Given the description of an element on the screen output the (x, y) to click on. 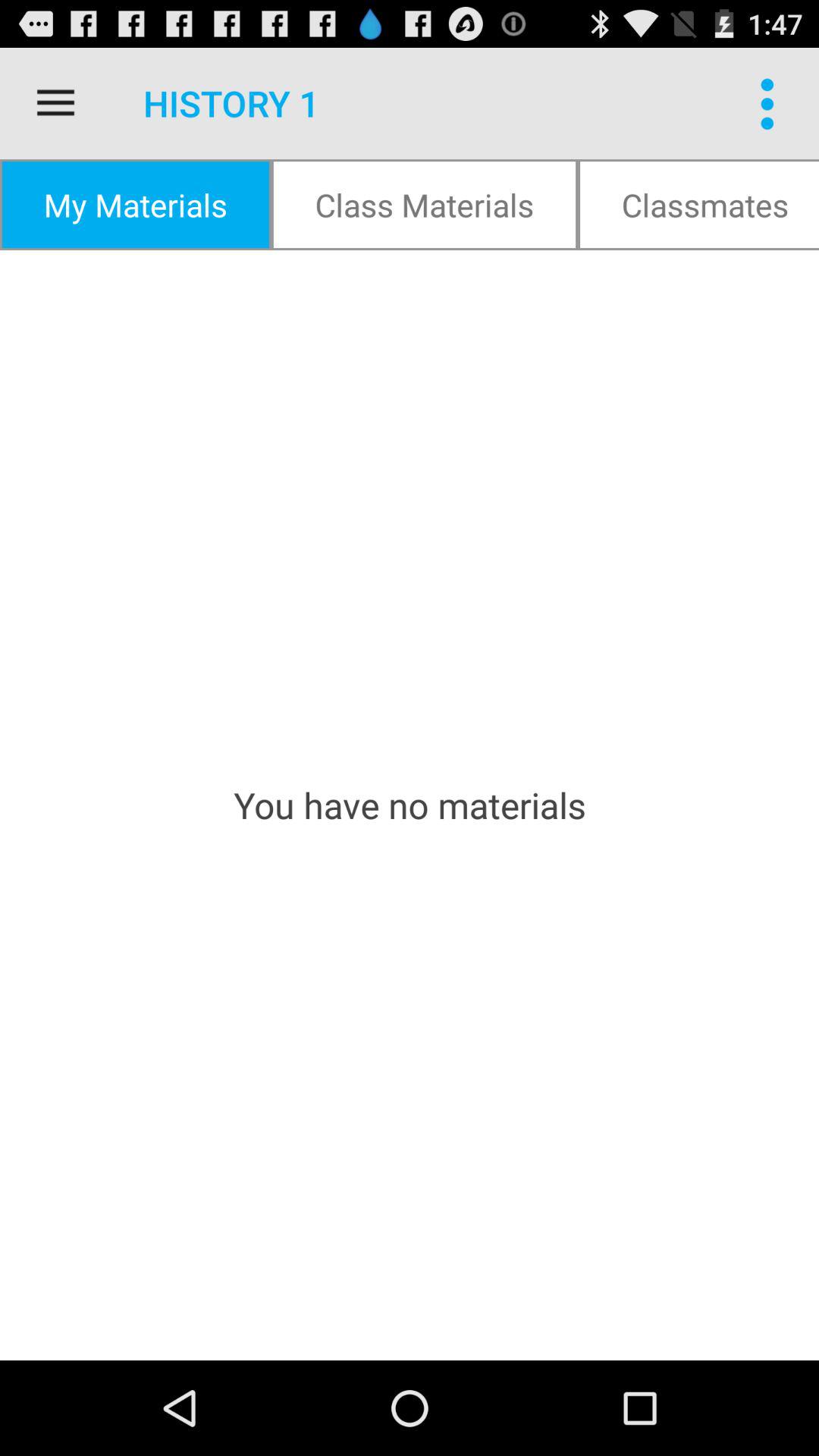
press icon above you have no icon (424, 204)
